Given the description of an element on the screen output the (x, y) to click on. 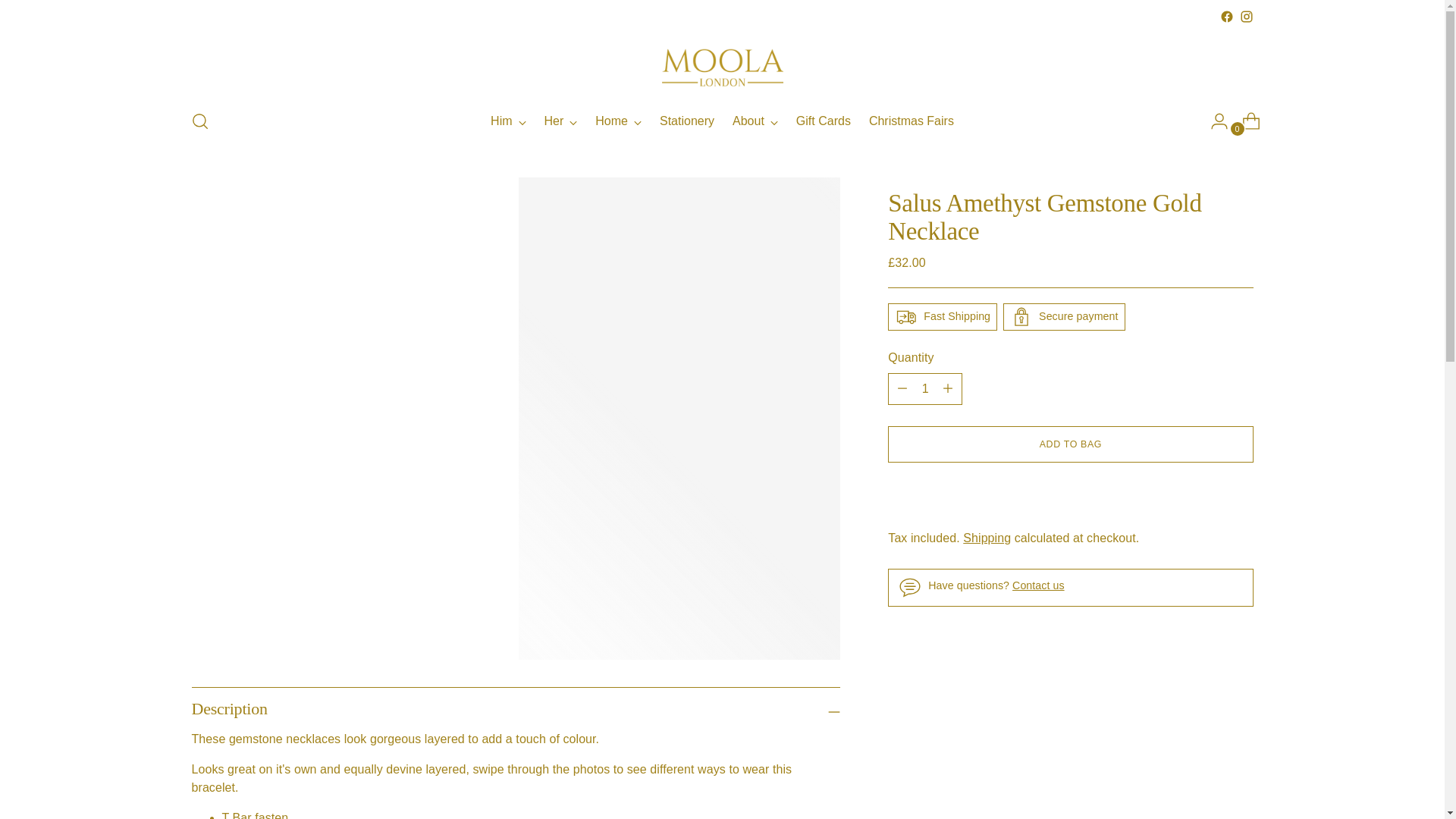
Moola London  on Instagram (1245, 16)
Home (618, 121)
Moola London  on Facebook (1226, 16)
Her (561, 121)
Him (722, 121)
